Given the description of an element on the screen output the (x, y) to click on. 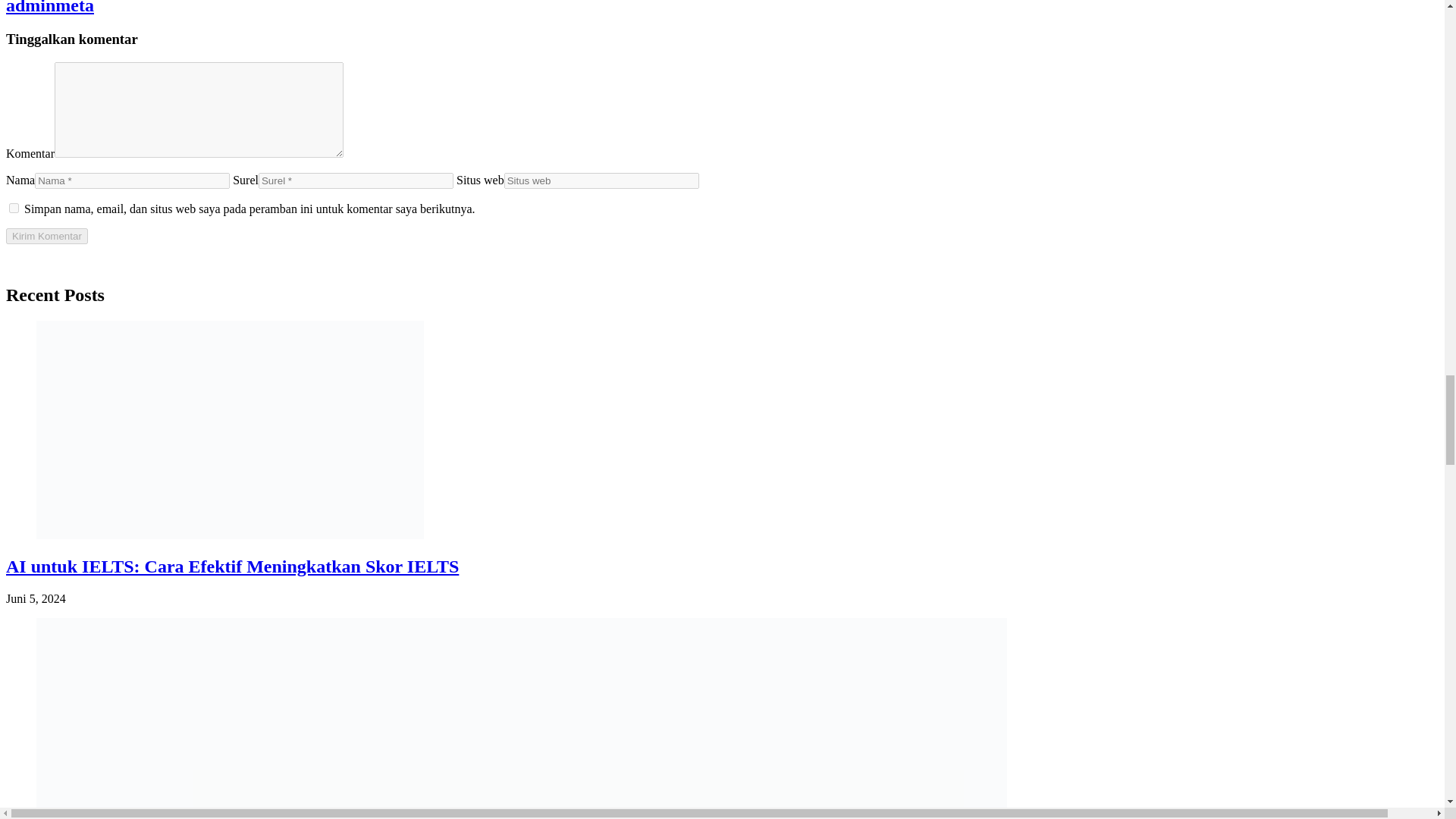
Kirim Komentar (46, 236)
AI untuk IELTS: Cara Efektif Meningkatkan Skor IELTS (231, 566)
yes (13, 207)
Kirim Komentar (46, 236)
adminmeta (49, 7)
